Given the description of an element on the screen output the (x, y) to click on. 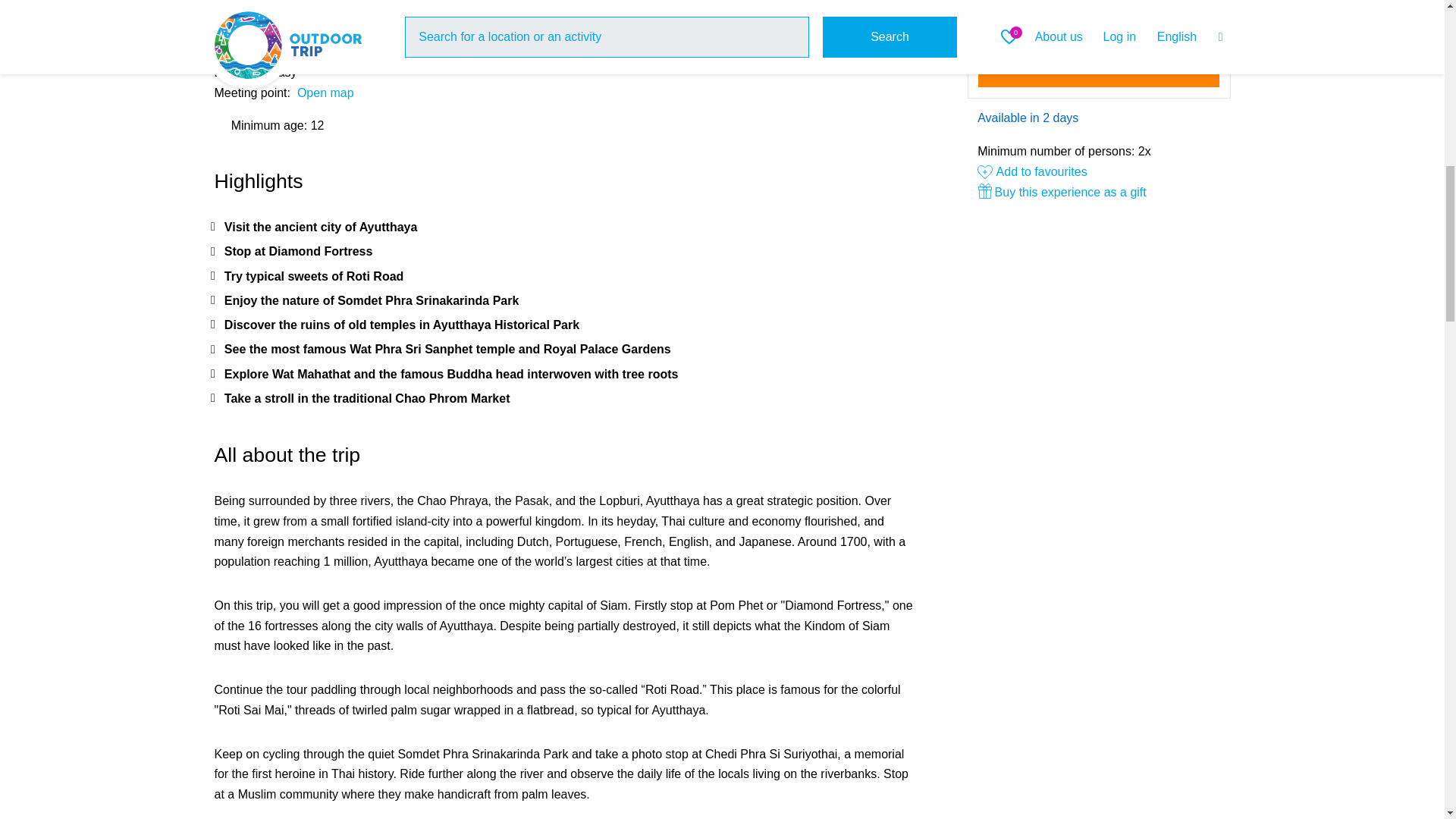
Add to favourites (1031, 172)
Buy this experience as a gift (1098, 192)
Cycling (282, 11)
Date and time (1099, 18)
Continue (1099, 66)
Open map (325, 92)
